Given the description of an element on the screen output the (x, y) to click on. 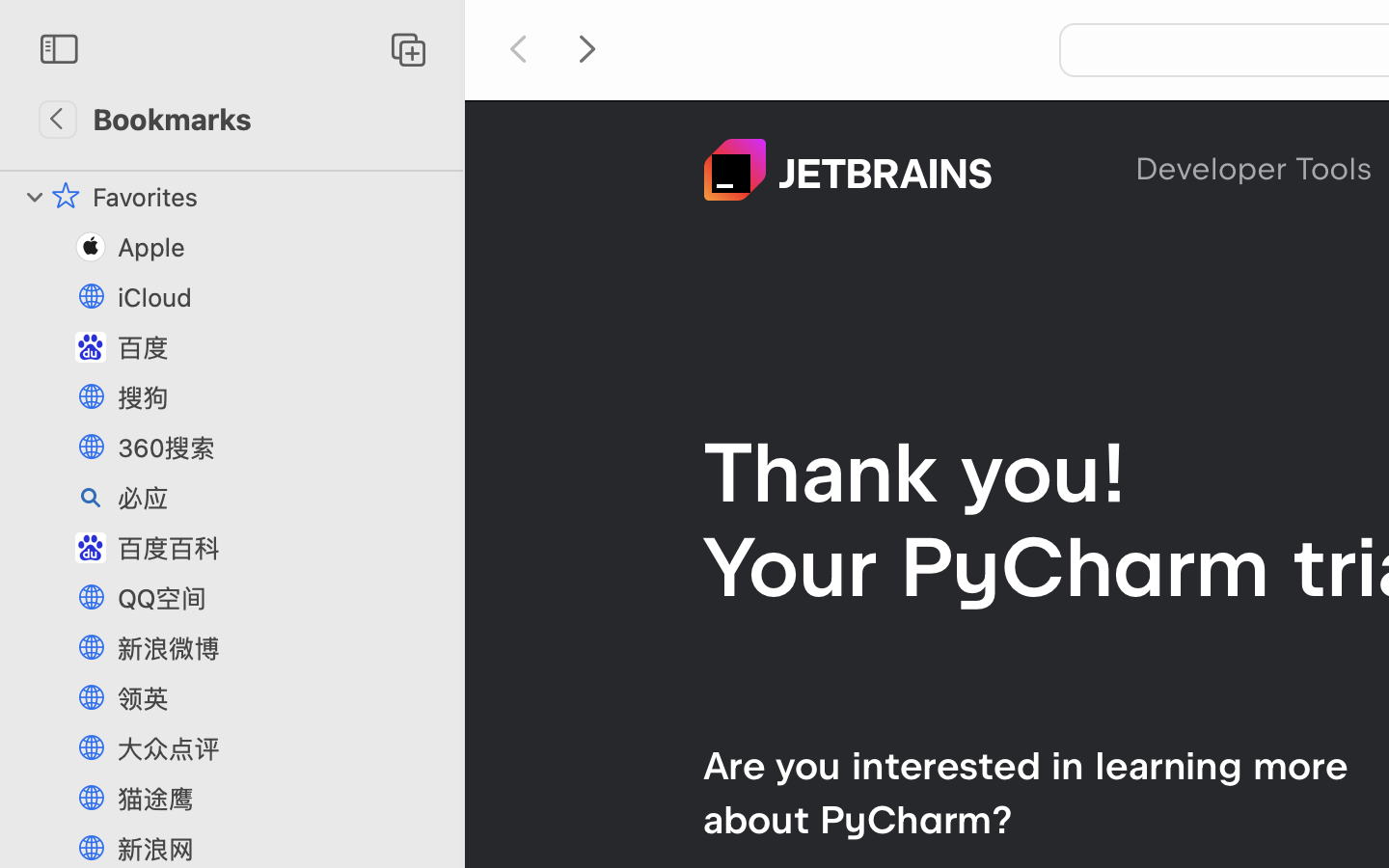
Favorites Element type: AXTextField (267, 196)
Thank you! Element type: AXStaticText (915, 472)
QQ空间 Element type: AXTextField (280, 597)
